Given the description of an element on the screen output the (x, y) to click on. 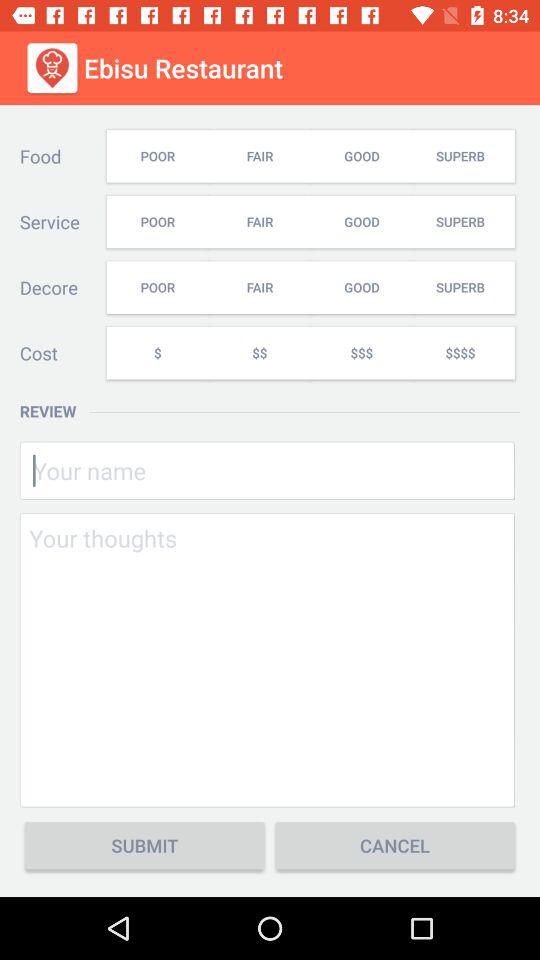
launch icon below the fair icon (361, 352)
